Given the description of an element on the screen output the (x, y) to click on. 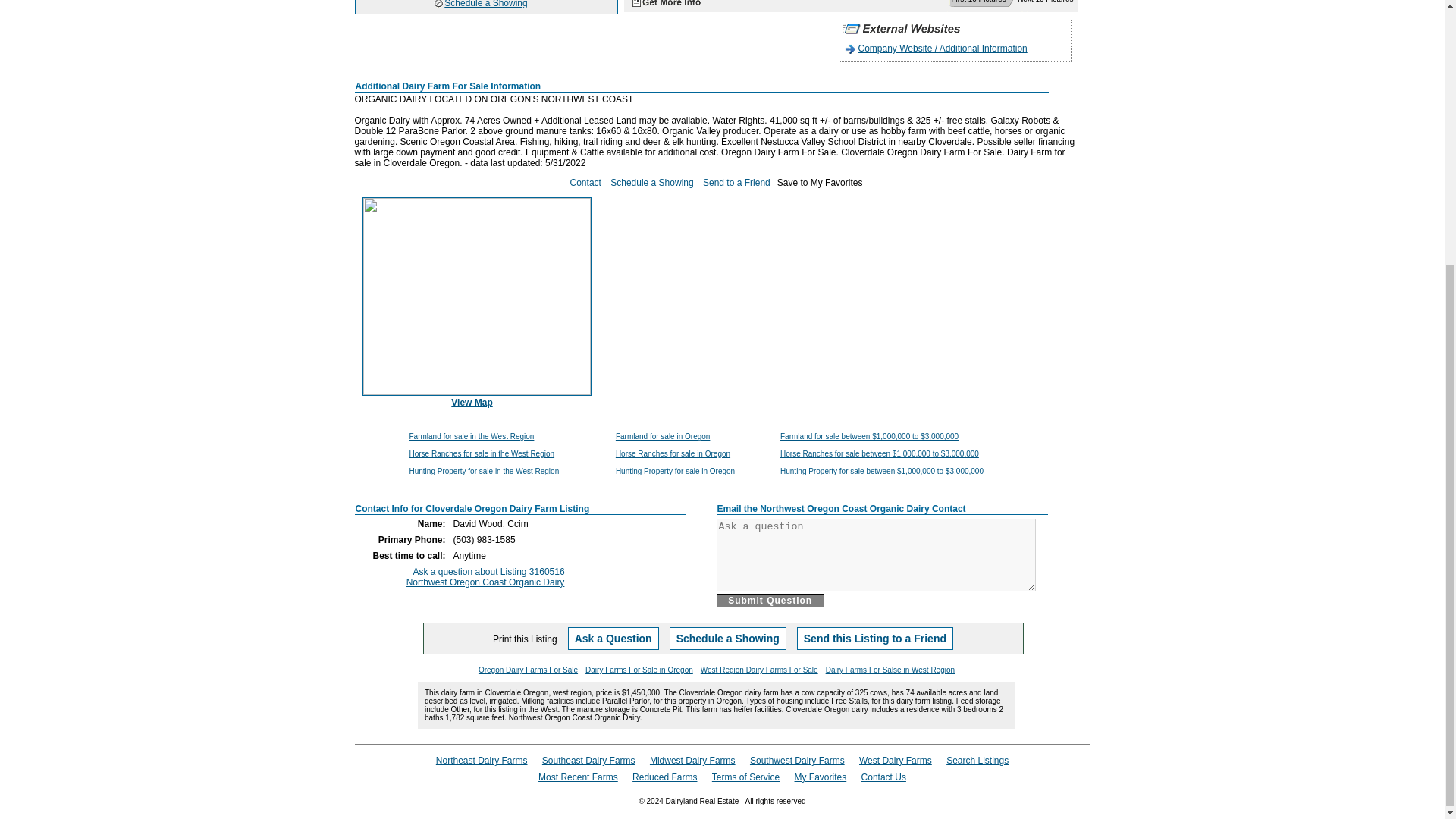
  Submit Question   (770, 600)
Schedule a Showing (485, 4)
First 10 Pictures (976, 1)
